Given the description of an element on the screen output the (x, y) to click on. 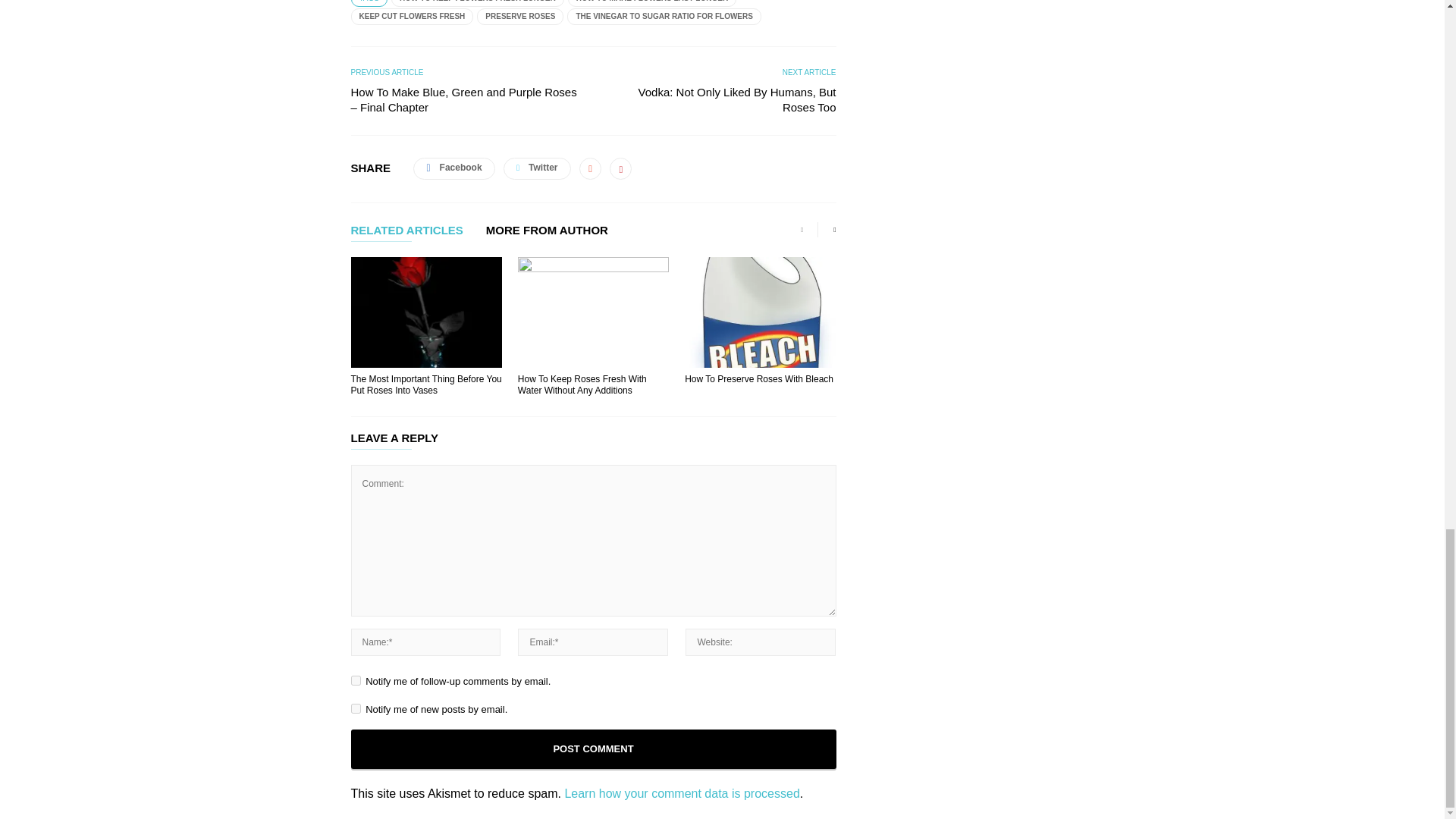
subscribe (354, 708)
How To Keep Roses Fresh With Water Without Any Additions (593, 312)
The Most Important Thing Before You Put Roses Into Vases (425, 384)
HOW TO MAKE FLOWERS LAST LONGER (651, 3)
subscribe (354, 680)
KEEP CUT FLOWERS FRESH (411, 16)
HOW TO KEEP FLOWERS FRESH LONGER (477, 3)
Vodka: Not Only Liked By Humans, But Roses Too (721, 100)
The Most Important Thing Before You Put Roses Into Vases (425, 312)
PRESERVE ROSES (520, 16)
